Given the description of an element on the screen output the (x, y) to click on. 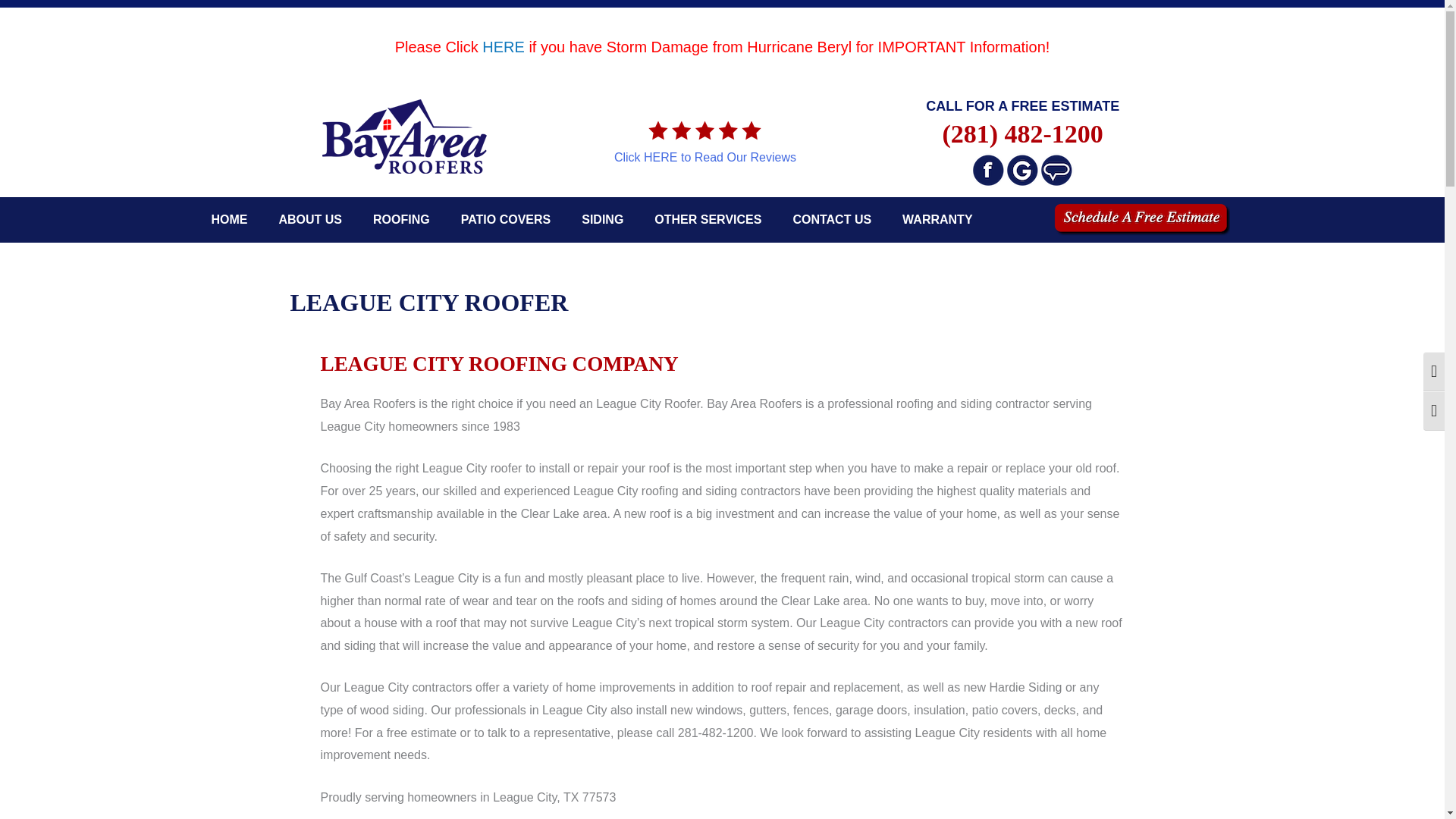
PATIO COVERS (505, 219)
CONTACT US (831, 219)
HERE (502, 46)
ABOUT US (309, 219)
HOME (228, 219)
OTHER SERVICES (707, 219)
Click HERE to Read Our Reviews (705, 156)
SIDING (602, 219)
ROOFING (401, 219)
WARRANTY (936, 219)
